Given the description of an element on the screen output the (x, y) to click on. 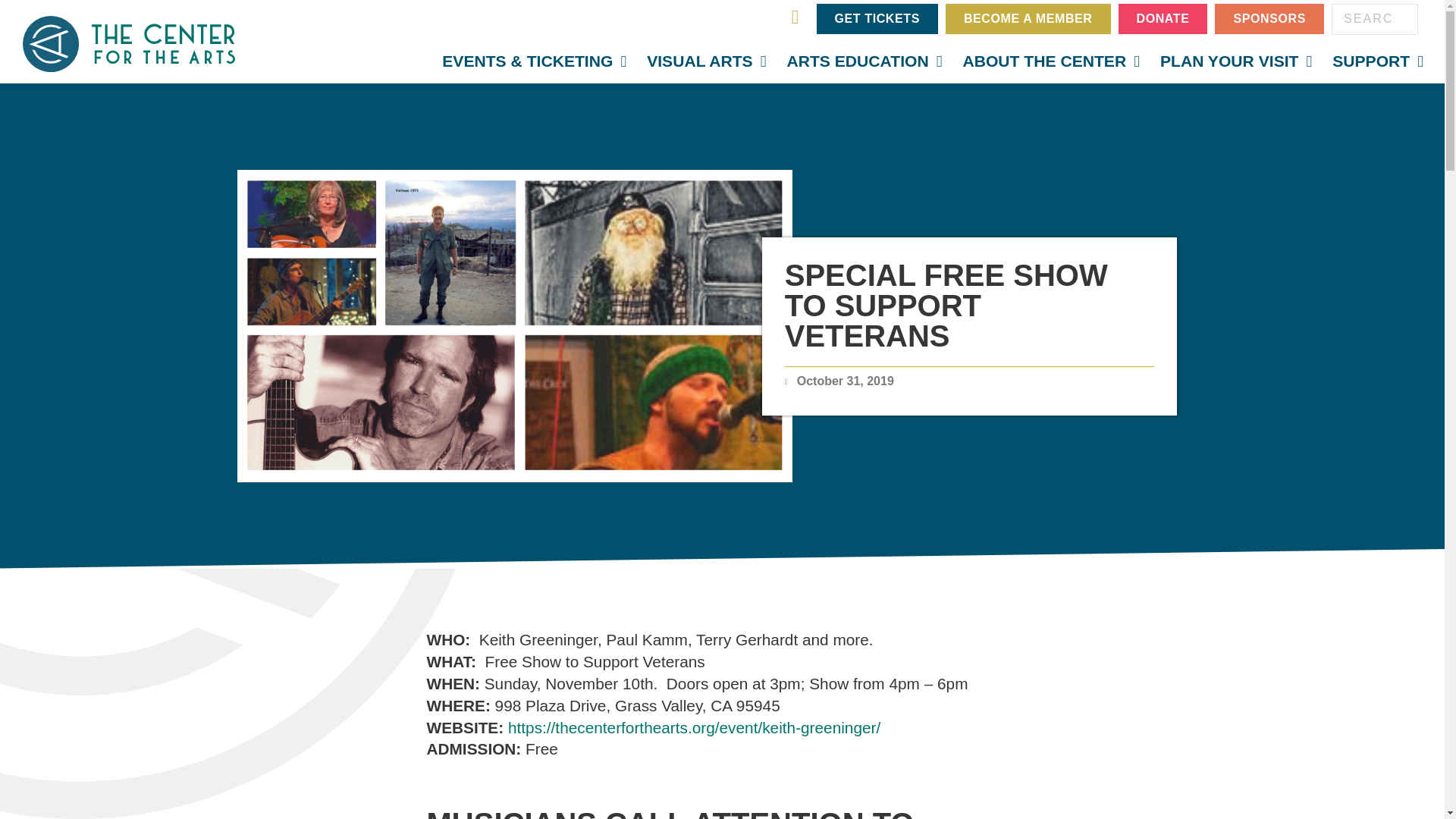
ABOUT THE CENTER (1050, 61)
BECOME A MEMBER (1027, 19)
ARTS EDUCATION (863, 61)
SPONSORS (1268, 19)
PLAN YOUR VISIT (1235, 61)
SUPPORT (1377, 61)
DONATE (1163, 19)
GET TICKETS (876, 19)
VISUAL ARTS (705, 61)
